Given the description of an element on the screen output the (x, y) to click on. 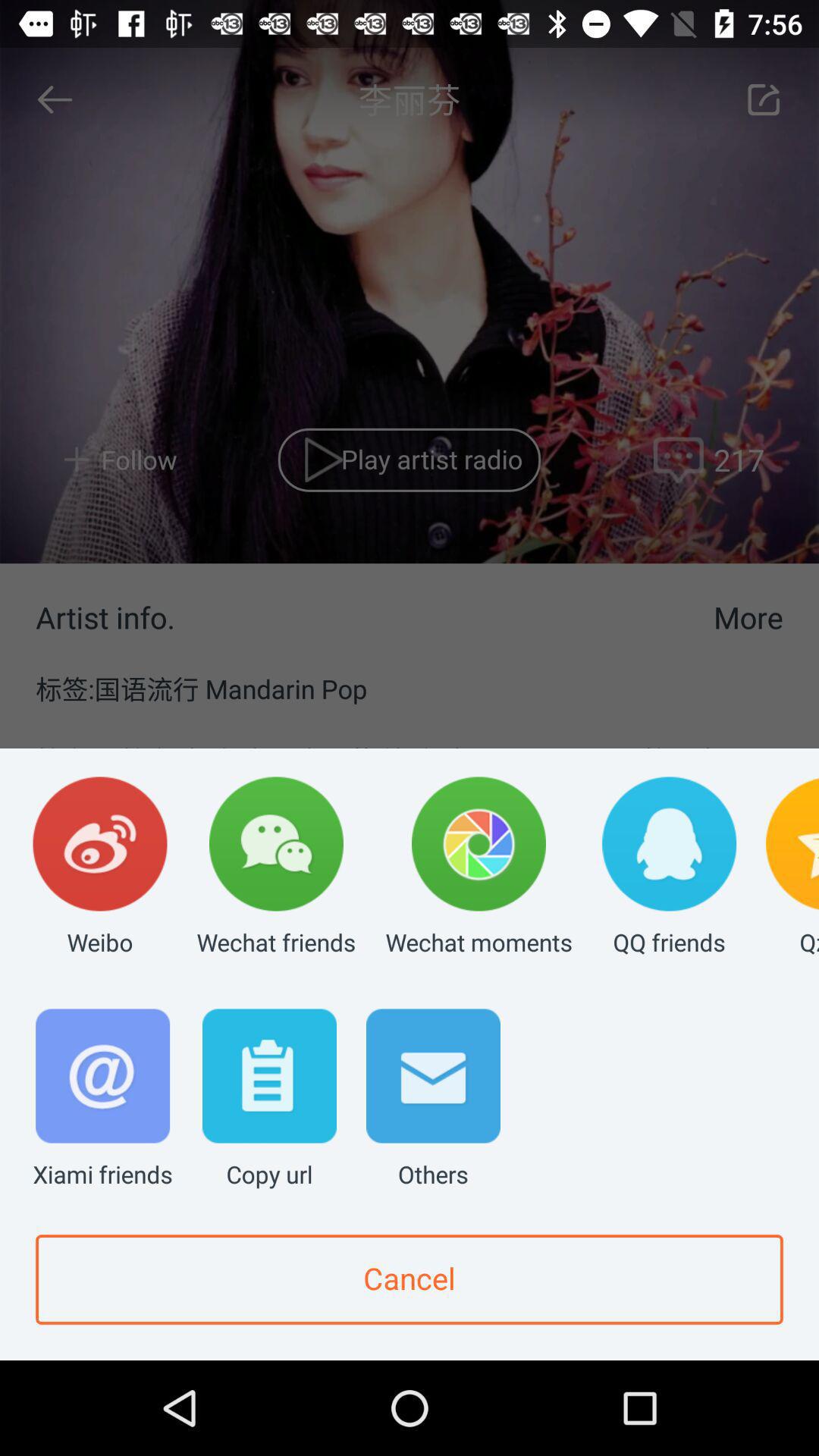
select icon below wechat friends item (269, 1099)
